Given the description of an element on the screen output the (x, y) to click on. 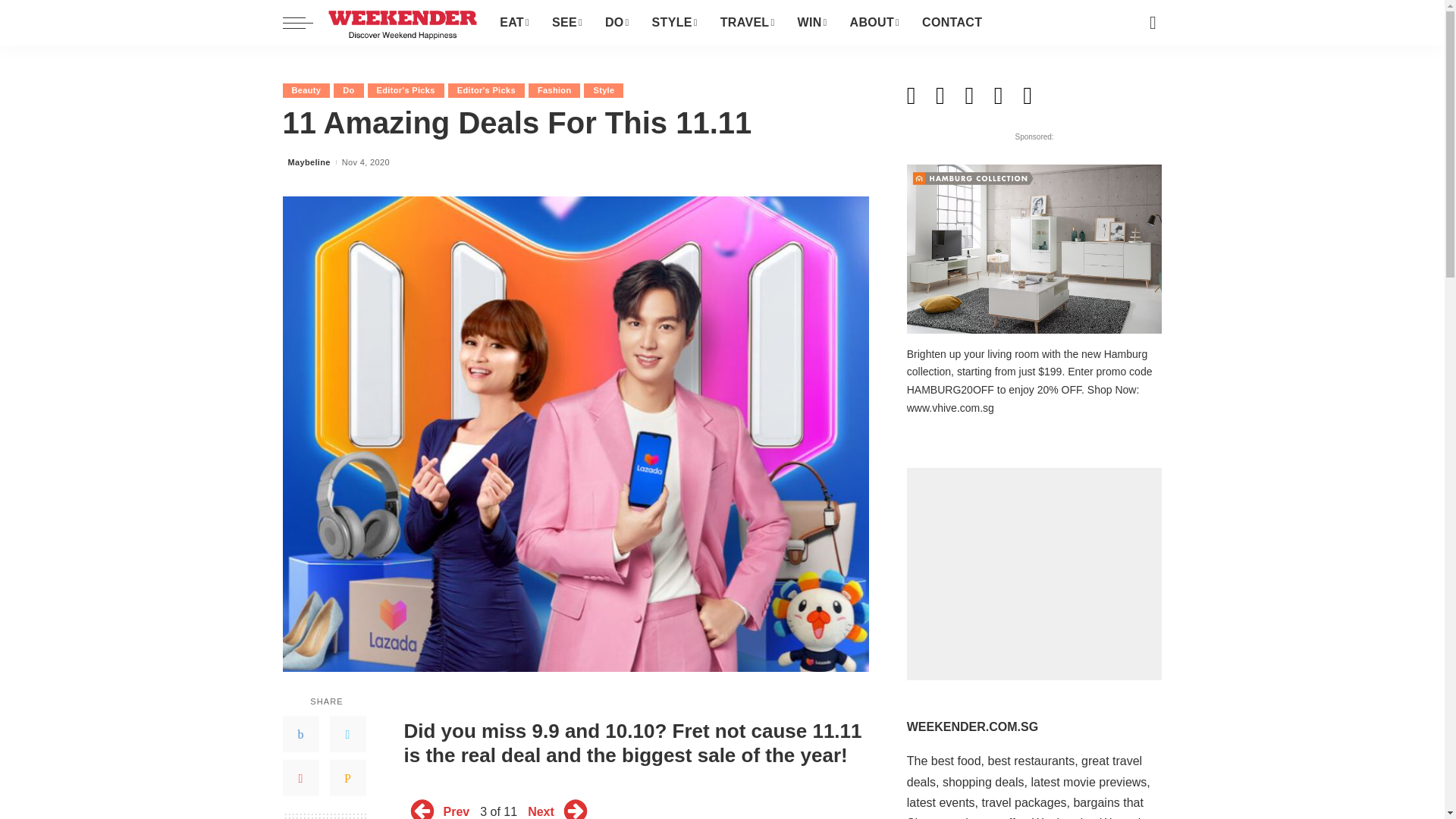
Pinterest (300, 778)
Facebook (300, 733)
Email (347, 778)
Twitter (347, 733)
Weekender.Com.Sg (402, 22)
